Given the description of an element on the screen output the (x, y) to click on. 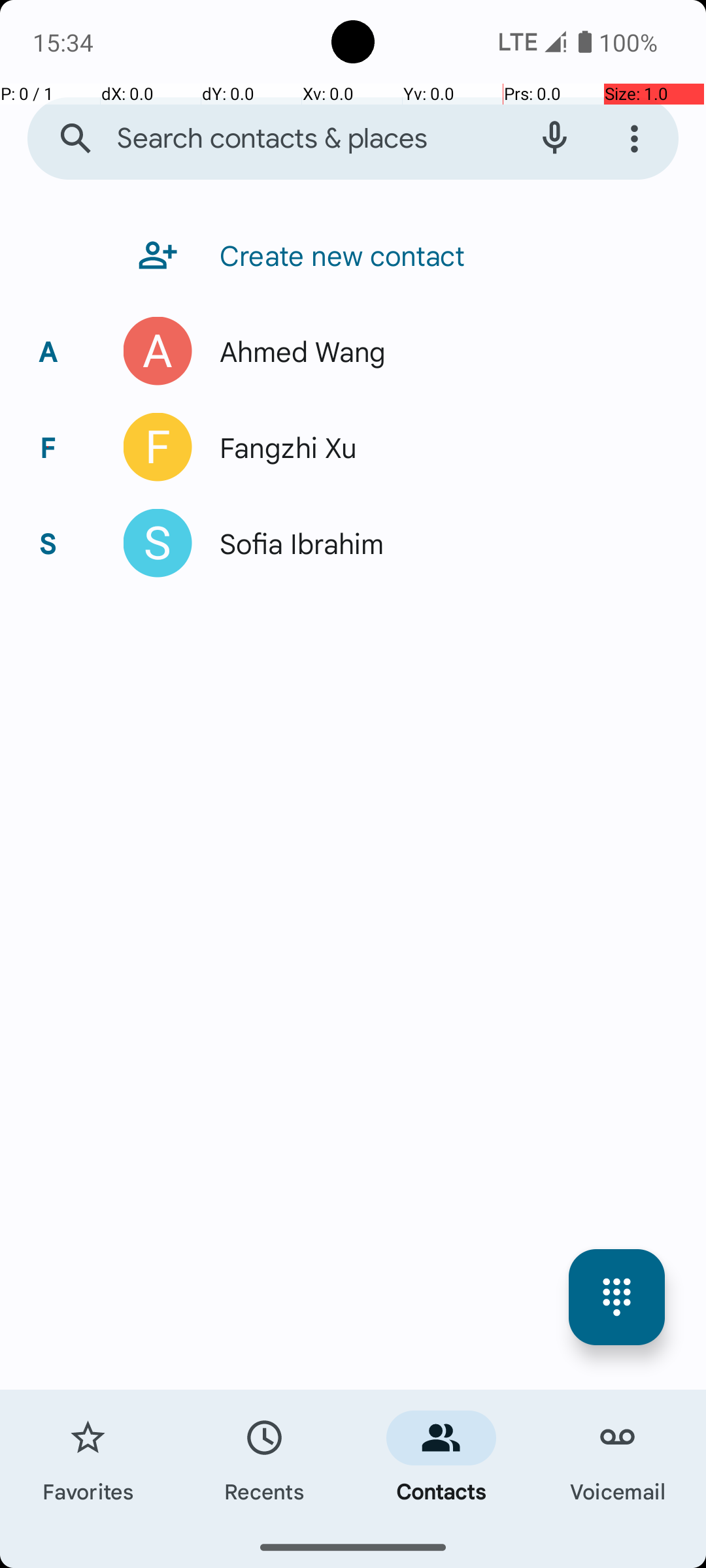
key pad Element type: android.widget.ImageButton (616, 1297)
Voicemail Element type: android.widget.FrameLayout (617, 1457)
Create new contact Element type: android.widget.TextView (335, 254)
Quick contact for Ahmed Wang Element type: android.widget.QuickContactBadge (157, 350)
Ahmed Wang Element type: android.widget.TextView (296, 350)
Quick contact for Fangzhi Xu Element type: android.widget.QuickContactBadge (157, 446)
Fangzhi Xu Element type: android.widget.TextView (281, 446)
Quick contact for Sofia Ibrahim Element type: android.widget.QuickContactBadge (157, 542)
Sofia Ibrahim Element type: android.widget.TextView (294, 542)
